Given the description of an element on the screen output the (x, y) to click on. 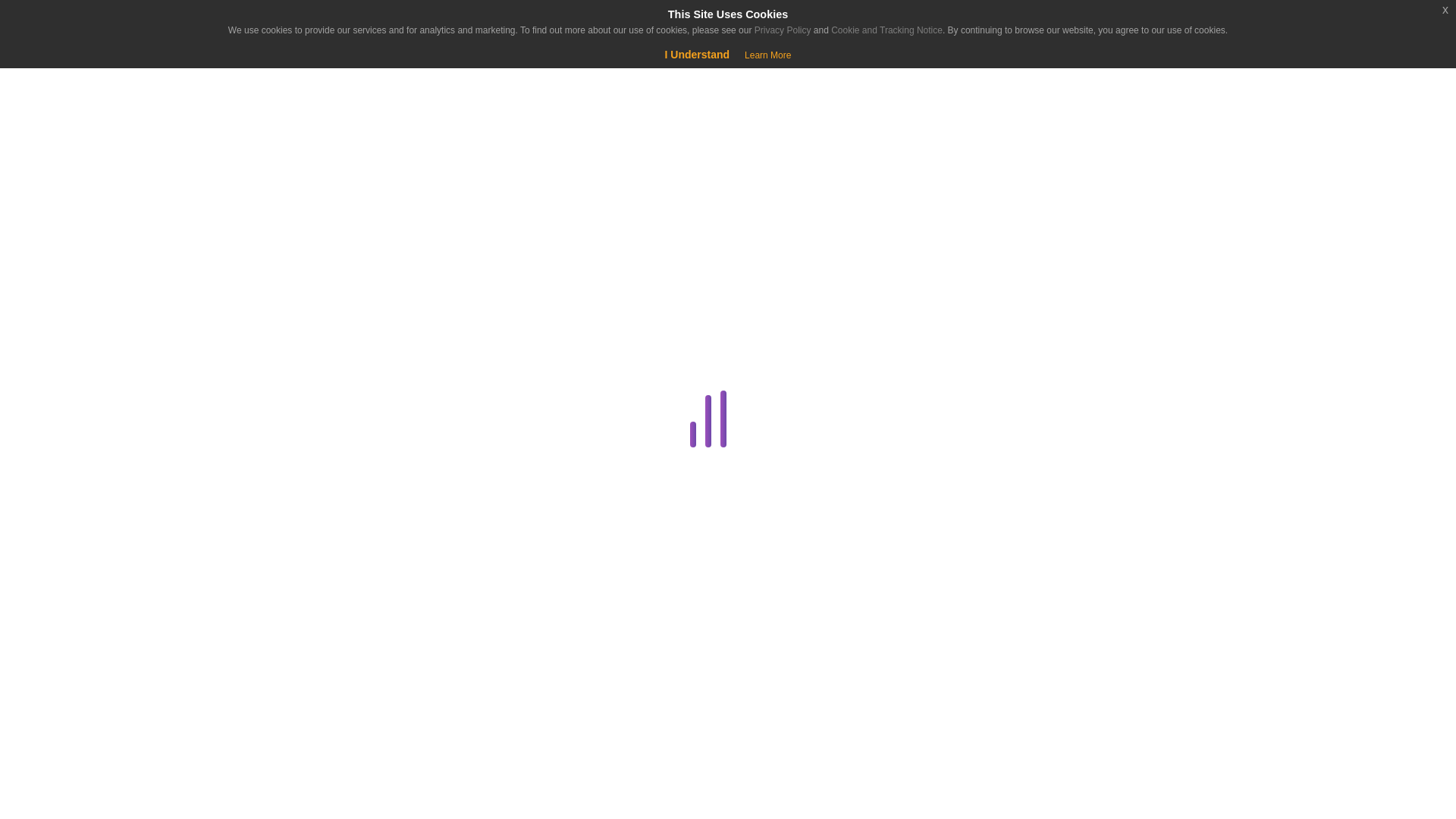
Qeydiyyat (129, 76)
Hesab (93, 23)
cPanel (281, 422)
Billing (281, 349)
Databases (281, 458)
Home (94, 138)
Colocation Guides (283, 385)
Linux Administration (281, 750)
Email (281, 604)
Domains and DNS (281, 531)
Hosting Dashboard (281, 713)
Dedicated Server Guides (281, 495)
Affiliates (283, 312)
Domains API (283, 567)
FTP (283, 640)
